Given the description of an element on the screen output the (x, y) to click on. 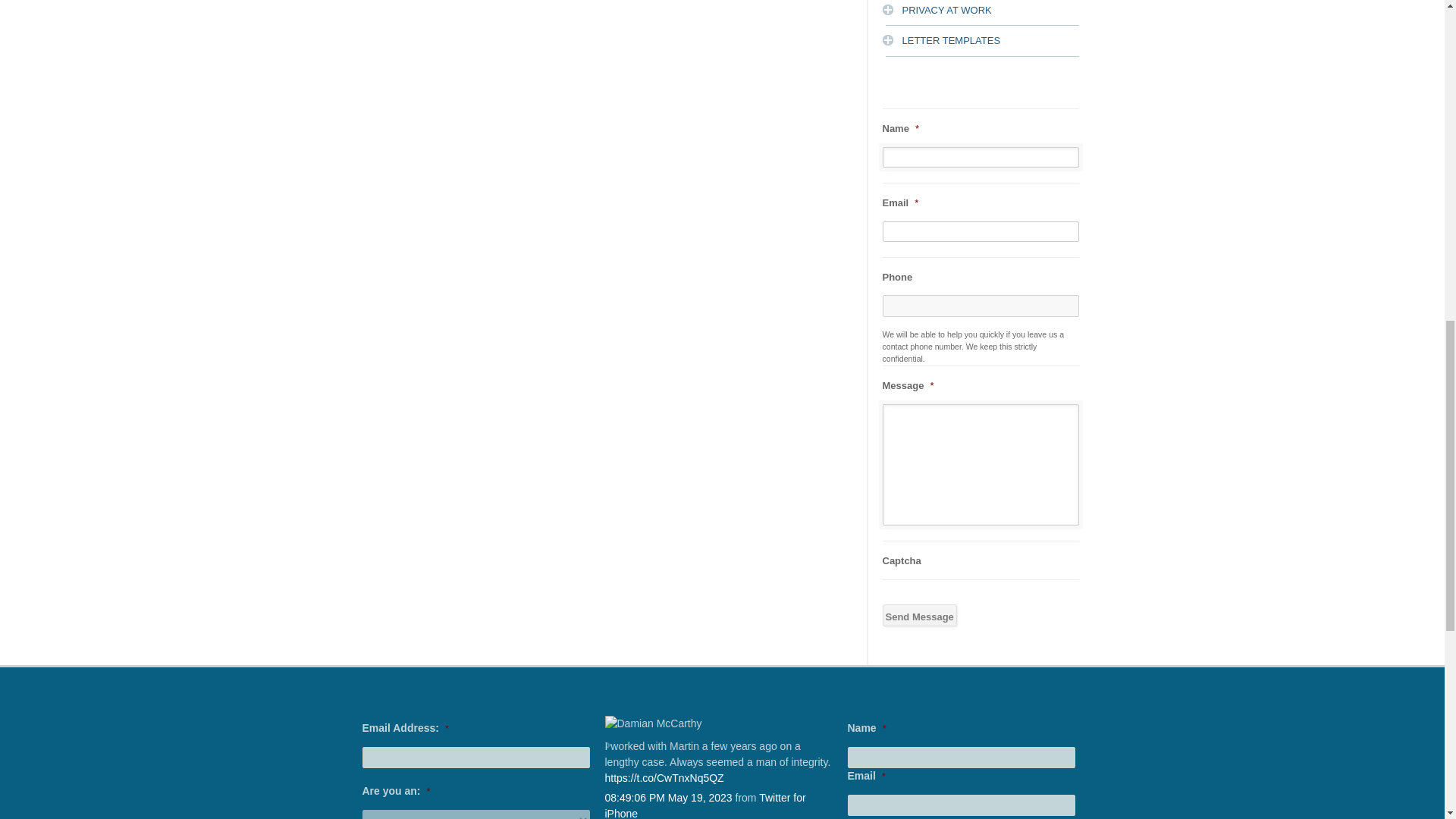
Damian McCarthy (718, 723)
Send Message (919, 615)
